Given the description of an element on the screen output the (x, y) to click on. 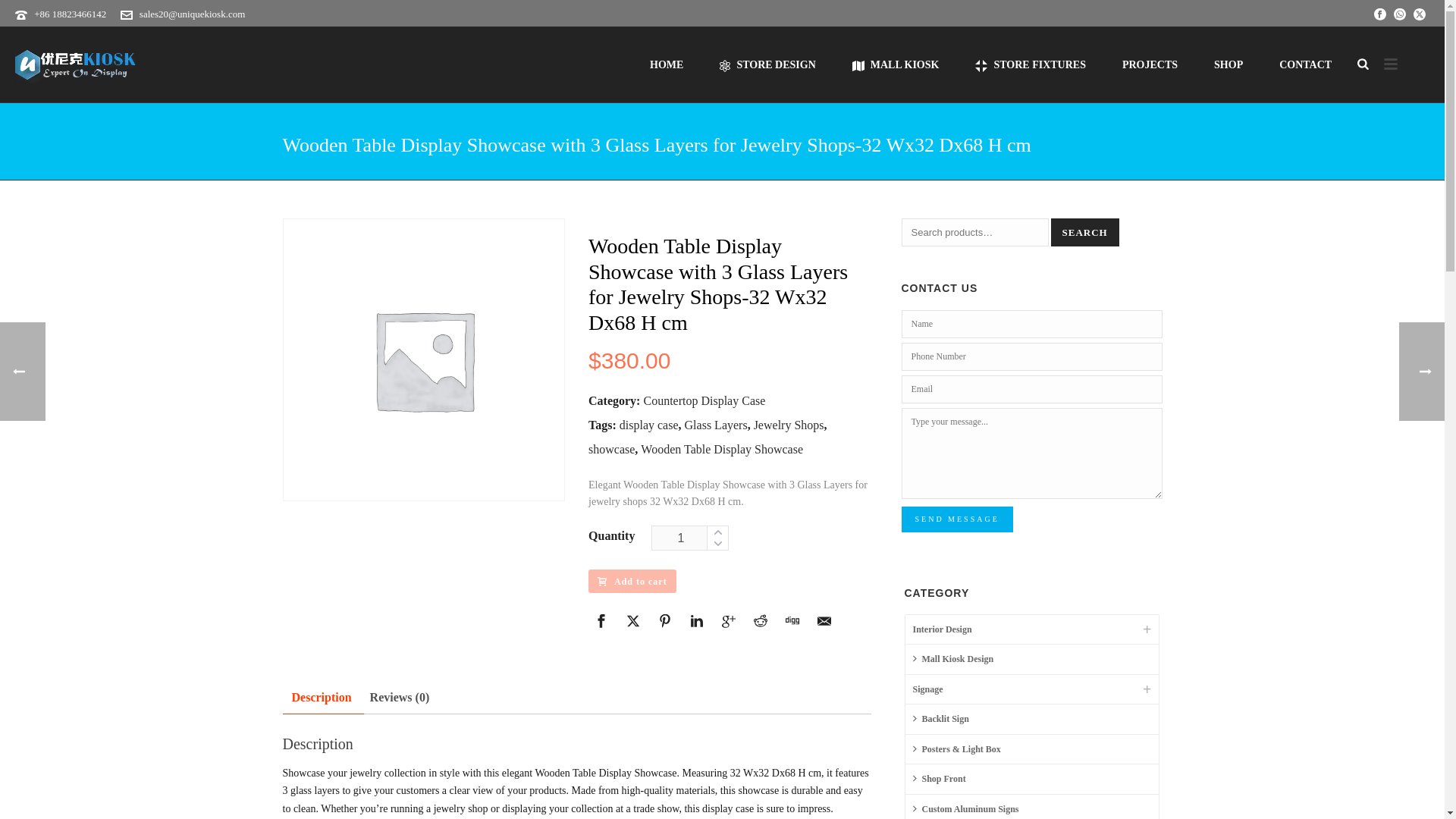
HOME (666, 64)
PROJECTS (1149, 64)
STORE DESIGN (767, 64)
Unique Kiosk (75, 64)
MALL KIOSK (895, 64)
STORE FIXTURES (1030, 64)
SHOP (1227, 64)
1 (689, 537)
MALL KIOSK (895, 64)
STORE DESIGN (767, 64)
Qty (689, 537)
CONTACT (1305, 64)
HOME (666, 64)
STORE FIXTURES (1030, 64)
